Given the description of an element on the screen output the (x, y) to click on. 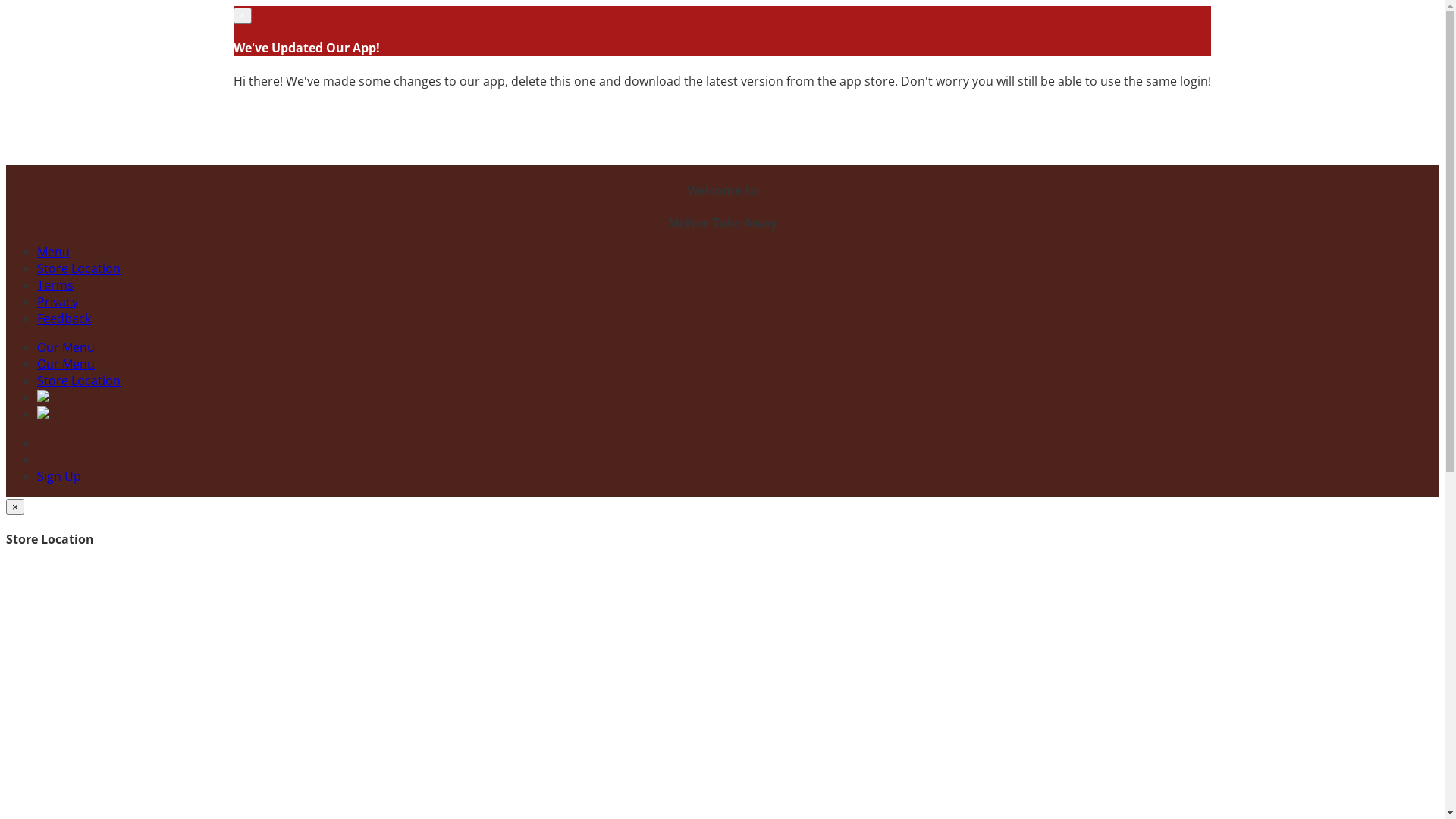
Store Location Element type: text (78, 268)
Our Menu Element type: text (65, 346)
Sign Up Element type: text (59, 475)
Privacy Element type: text (57, 301)
Terms Element type: text (55, 284)
Menu Element type: text (53, 251)
Our Menu Element type: text (65, 363)
Feedback Element type: text (64, 318)
Store Location Element type: text (78, 380)
